Given the description of an element on the screen output the (x, y) to click on. 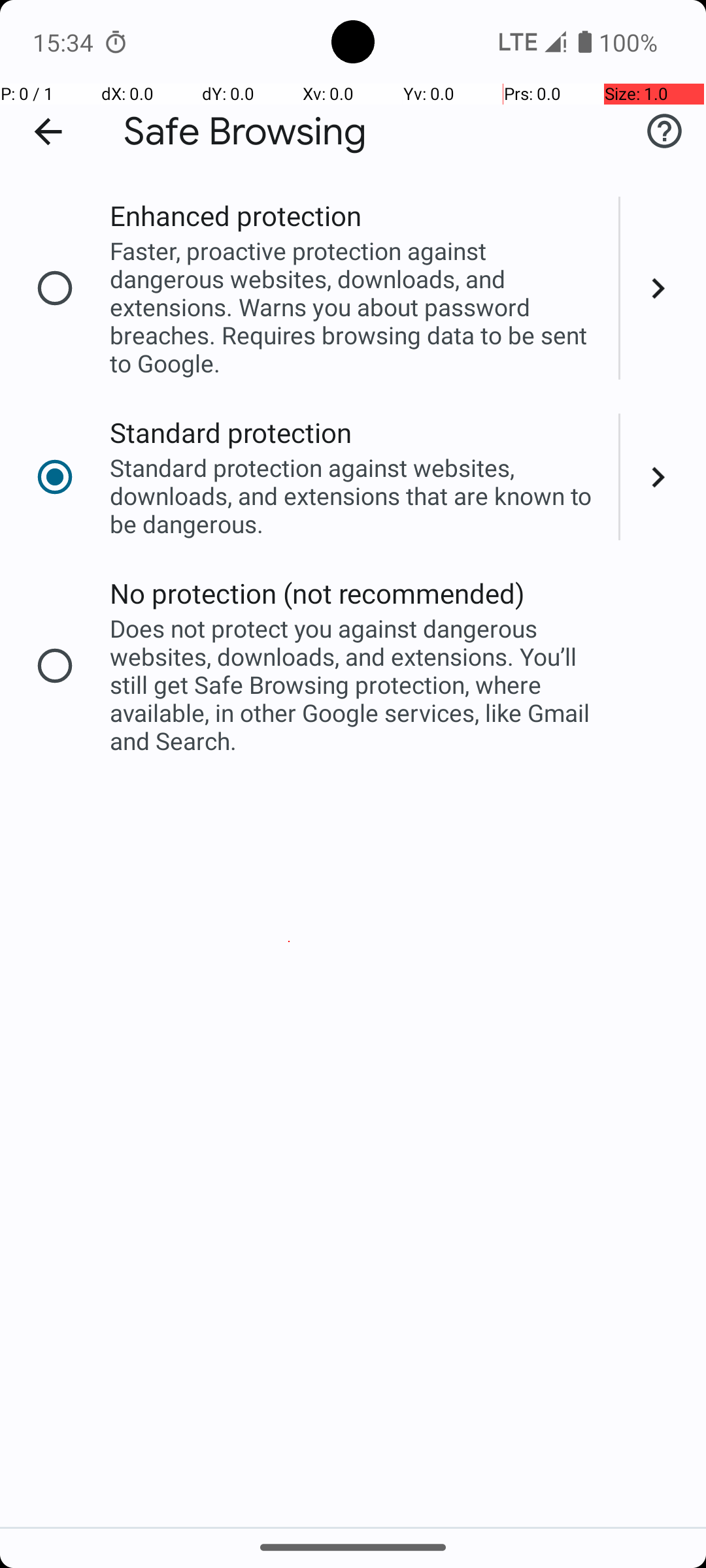
Safe Browsing Element type: android.widget.TextView (244, 131)
Enhanced protection Element type: android.widget.TextView (235, 214)
Faster, proactive protection against dangerous websites, downloads, and extensions. Warns you about password breaches. Requires browsing data to be sent to Google. Element type: android.widget.TextView (355, 306)
Standard protection Element type: android.widget.TextView (230, 431)
Standard protection against websites, downloads, and extensions that are known to be dangerous. Element type: android.widget.TextView (355, 495)
No protection (not recommended) Element type: android.widget.TextView (317, 592)
Does not protect you against dangerous websites, downloads, and extensions. You’ll still get Safe Browsing protection, where available, in other Google services, like Gmail and Search. Element type: android.widget.TextView (355, 684)
